Given the description of an element on the screen output the (x, y) to click on. 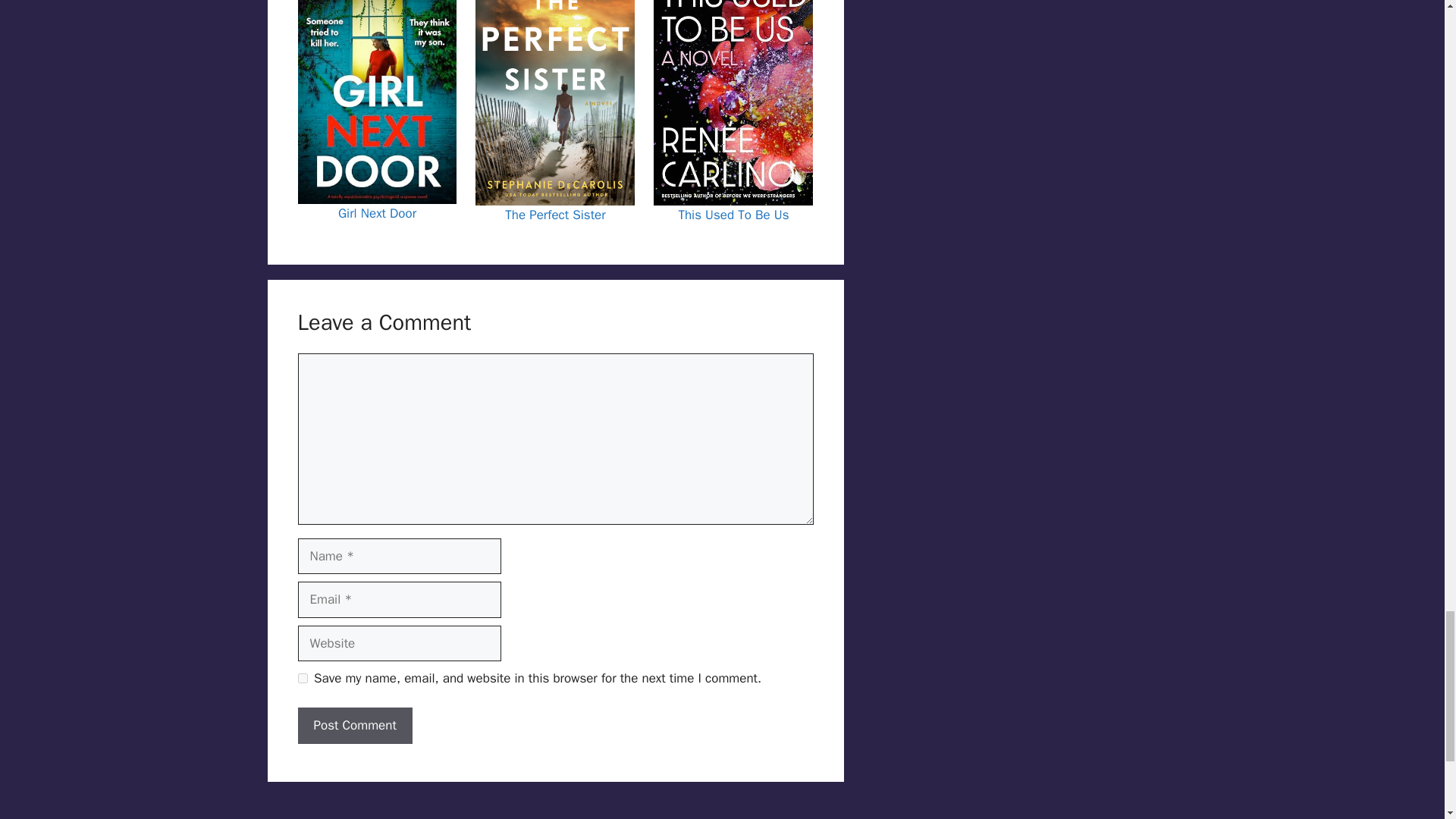
yes (302, 678)
Post Comment (354, 725)
